Given the description of an element on the screen output the (x, y) to click on. 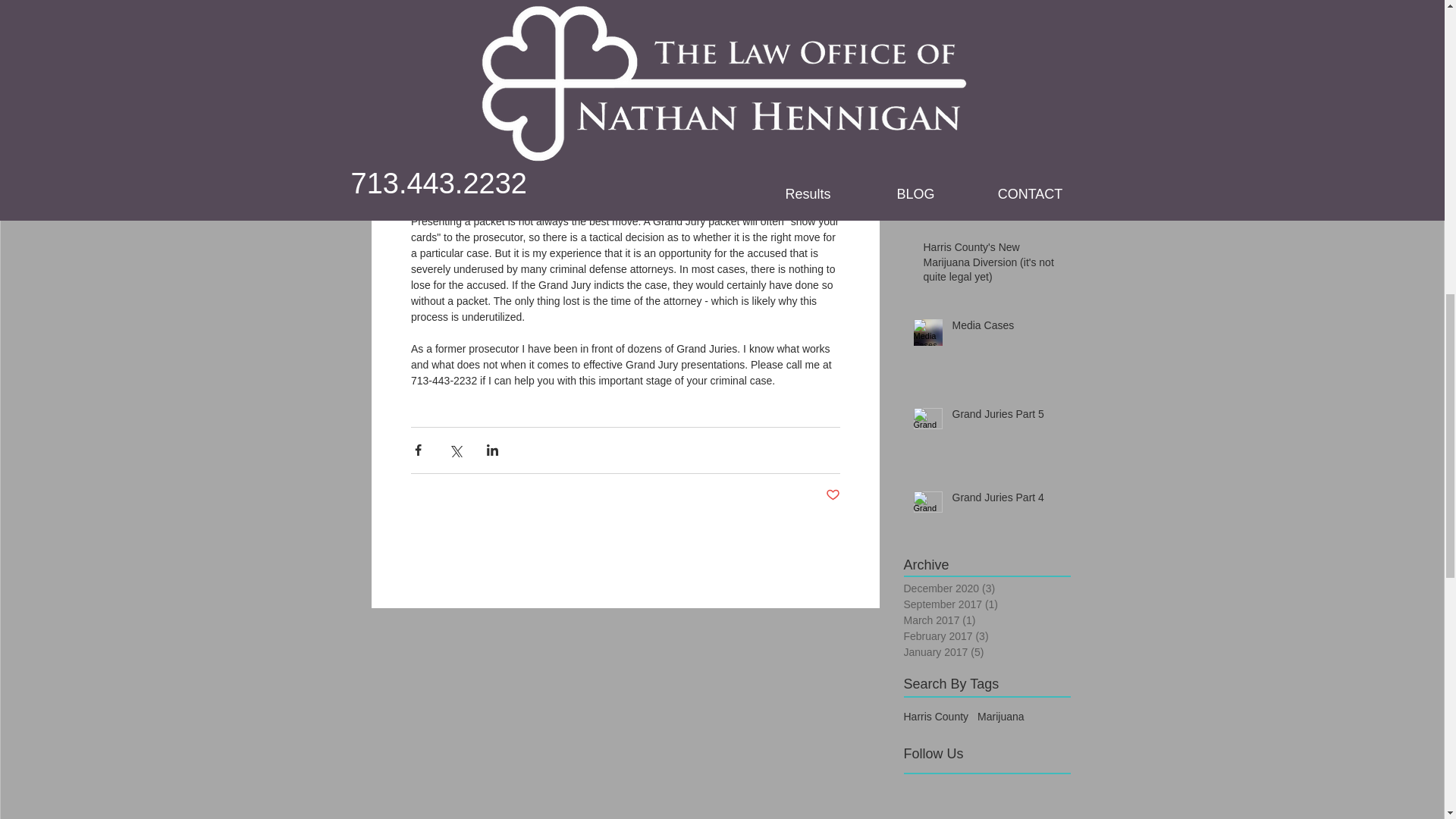
DWI Convictions May be Eligible to be Sealed (992, 23)
Media Cases (1006, 328)
Marijuana (999, 715)
Post not marked as liked (832, 494)
Harris County (936, 715)
Grand Juries Part 5 (1006, 417)
Grand Juries Part 4 (1006, 500)
